Given the description of an element on the screen output the (x, y) to click on. 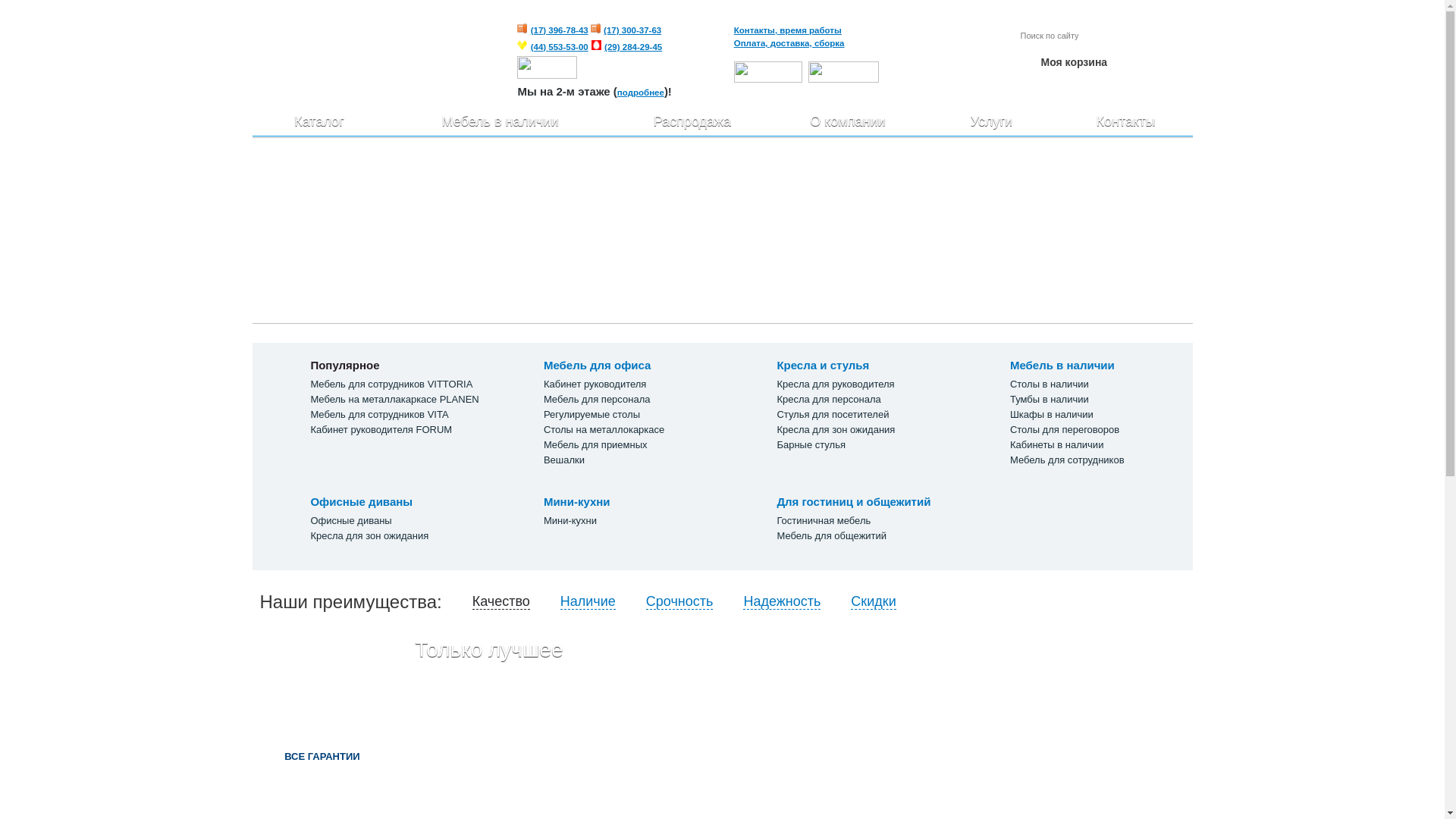
(17) 396-78-43 Element type: text (559, 29)
(44) 553-53-00 Element type: text (559, 46)
(29) 284-29-45 Element type: text (633, 46)
(17) 300-37-63 Element type: text (632, 29)
